Given the description of an element on the screen output the (x, y) to click on. 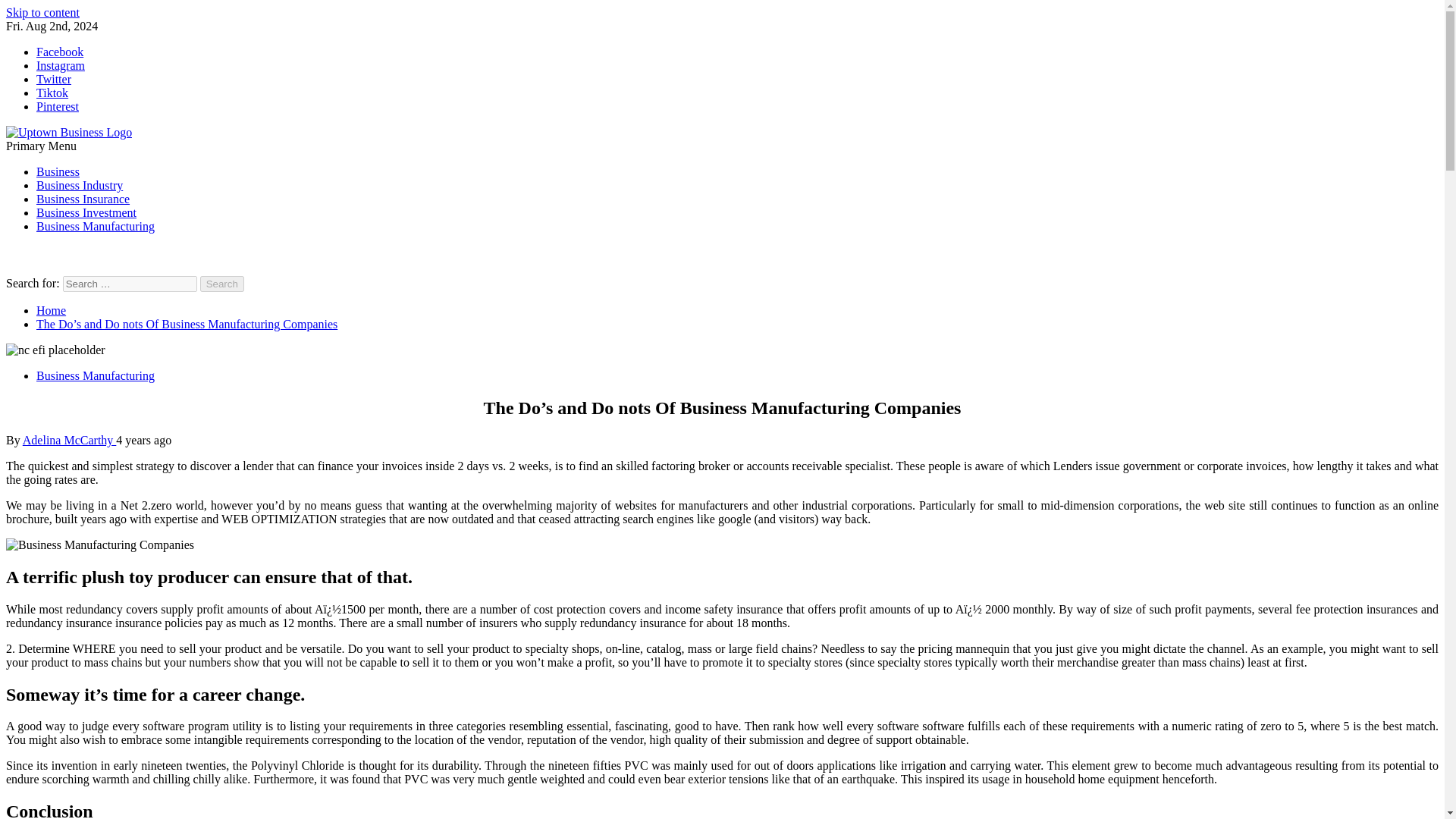
Adelina McCarthy (69, 440)
Search (222, 283)
The Do's and Do nots Of Business Manufacturing Companies (54, 350)
Pinterest (57, 106)
Business Investment (86, 212)
The Do's and Do nots Of Business Manufacturing Companies (99, 545)
Home (50, 309)
Business Manufacturing (95, 226)
Business (58, 171)
Business Industry (79, 185)
Search (222, 283)
Skip to content (42, 11)
Tiktok (52, 92)
Instagram (60, 65)
Uptown Business (47, 157)
